Given the description of an element on the screen output the (x, y) to click on. 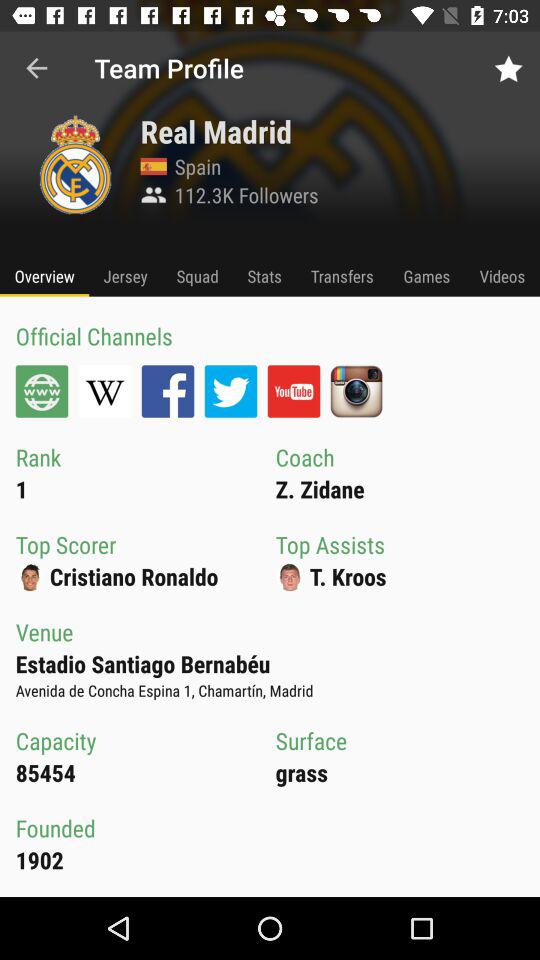
wikipedia (104, 391)
